Given the description of an element on the screen output the (x, y) to click on. 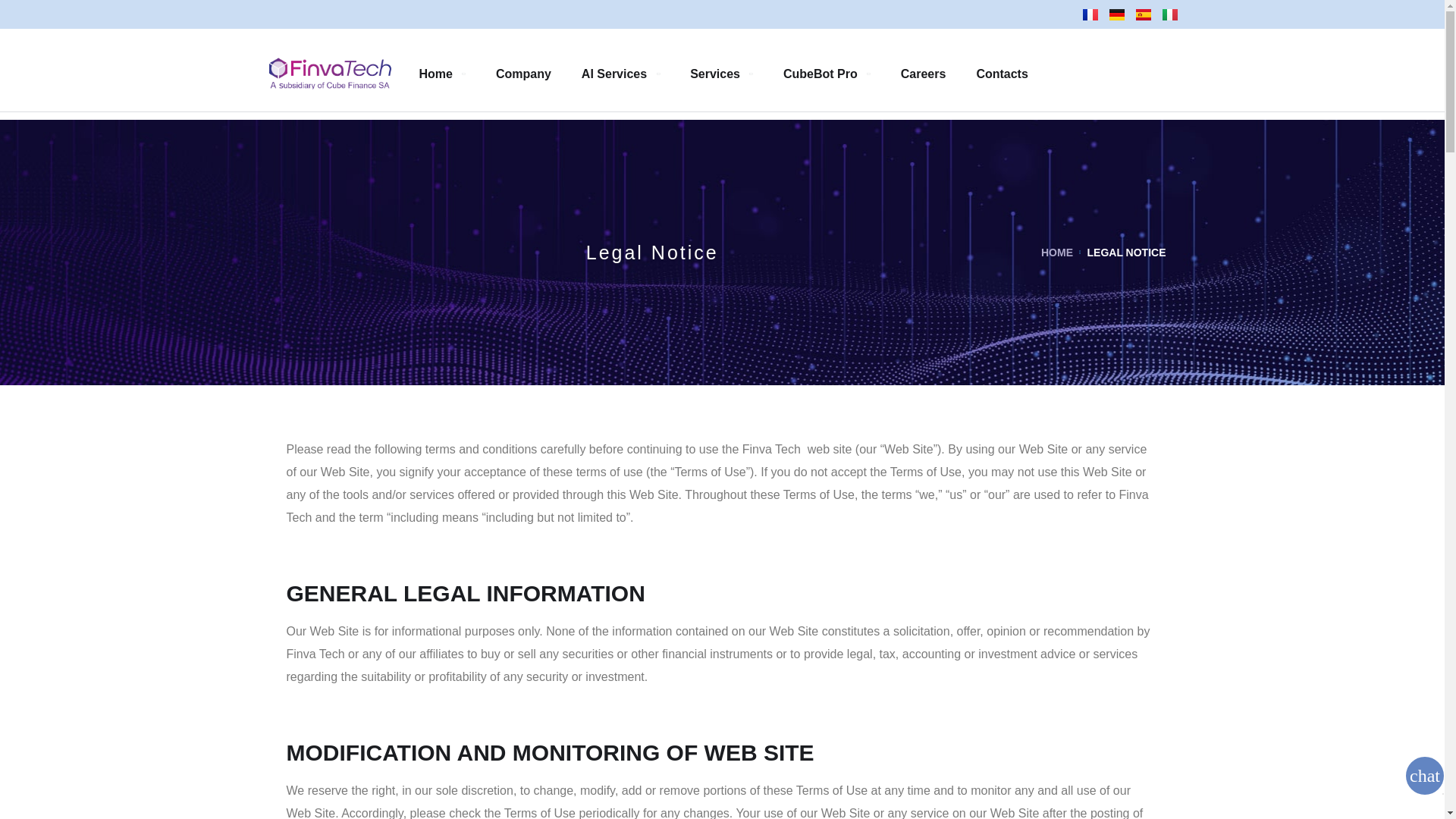
CubeBot Pro (826, 73)
AI Services (619, 73)
